Given the description of an element on the screen output the (x, y) to click on. 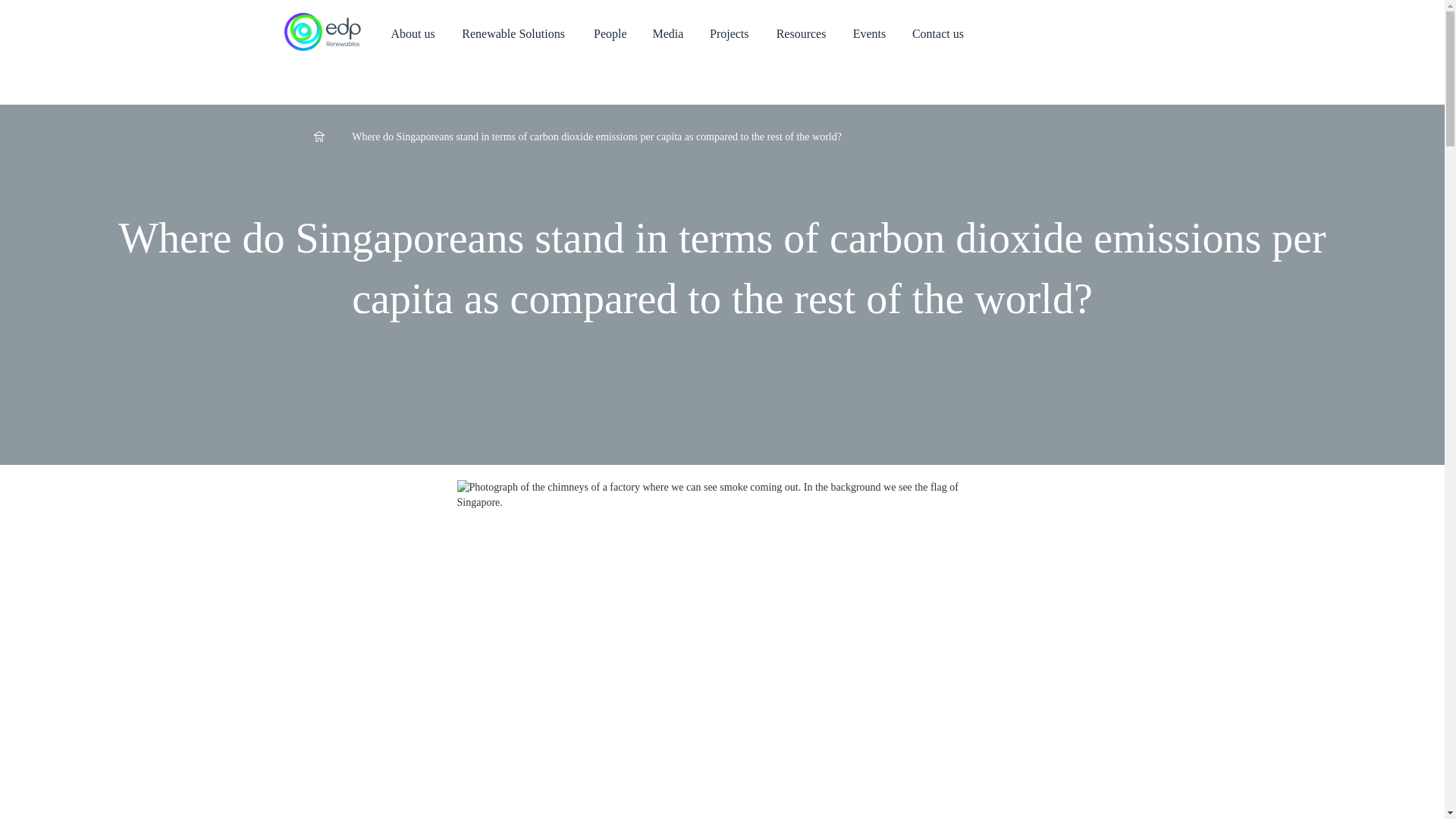
Events (870, 34)
Home (321, 34)
Projects (731, 34)
People (610, 34)
EDP renewables (321, 34)
EDP renewables (321, 31)
Resources (802, 34)
Contact us (940, 34)
Renewable Solutions (515, 34)
